Given the description of an element on the screen output the (x, y) to click on. 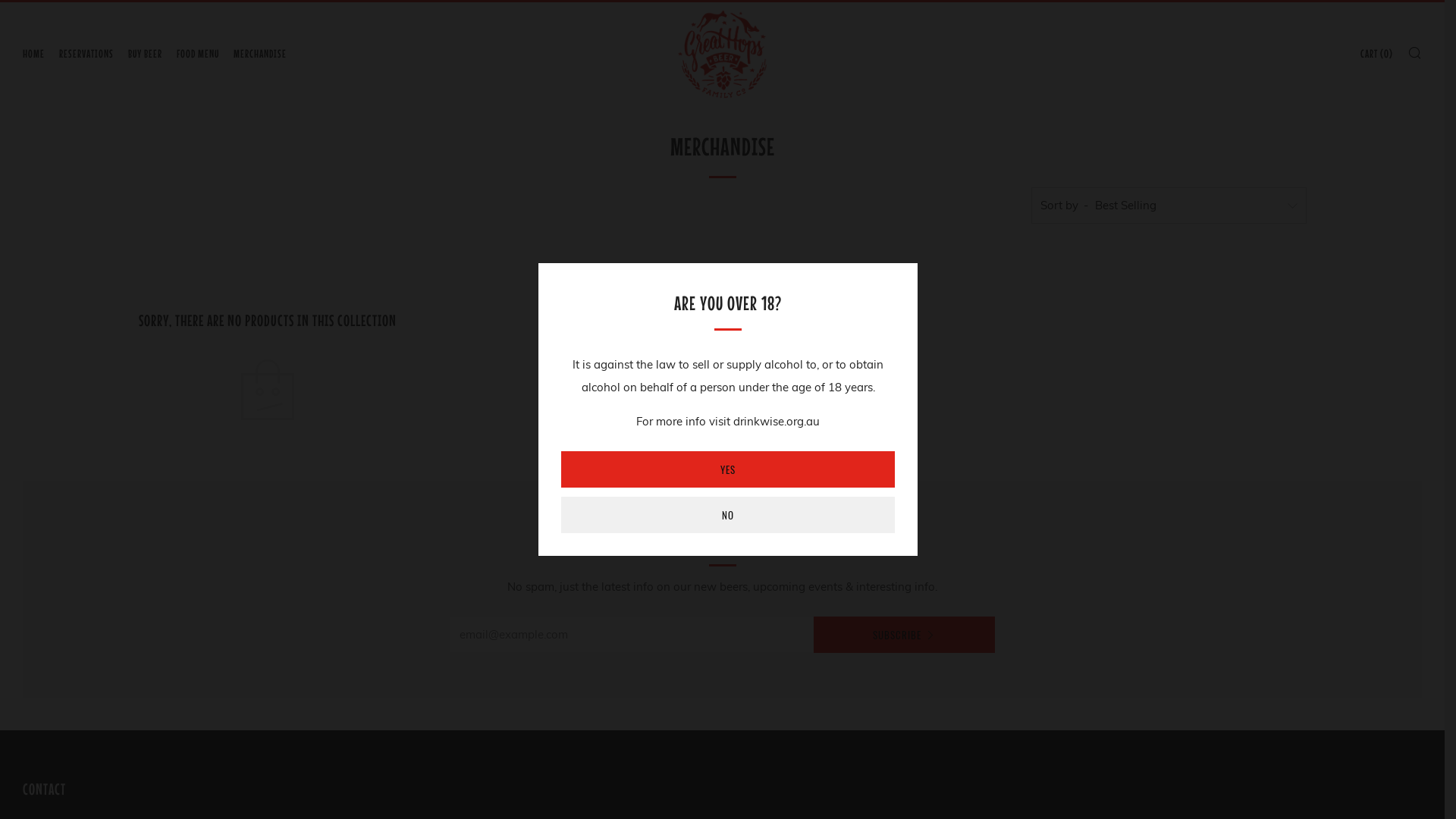
MERCHANDISE Element type: text (259, 53)
SUBSCRIBE Element type: text (903, 634)
RESERVATIONS Element type: text (86, 53)
SEARCH Element type: text (1414, 52)
YES Element type: text (727, 469)
FOOD MENU Element type: text (197, 53)
drinkwise.org.au Element type: text (776, 421)
BUY BEER Element type: text (145, 53)
HOME Element type: text (33, 53)
NO Element type: text (727, 514)
CART (0) Element type: text (1376, 53)
